Given the description of an element on the screen output the (x, y) to click on. 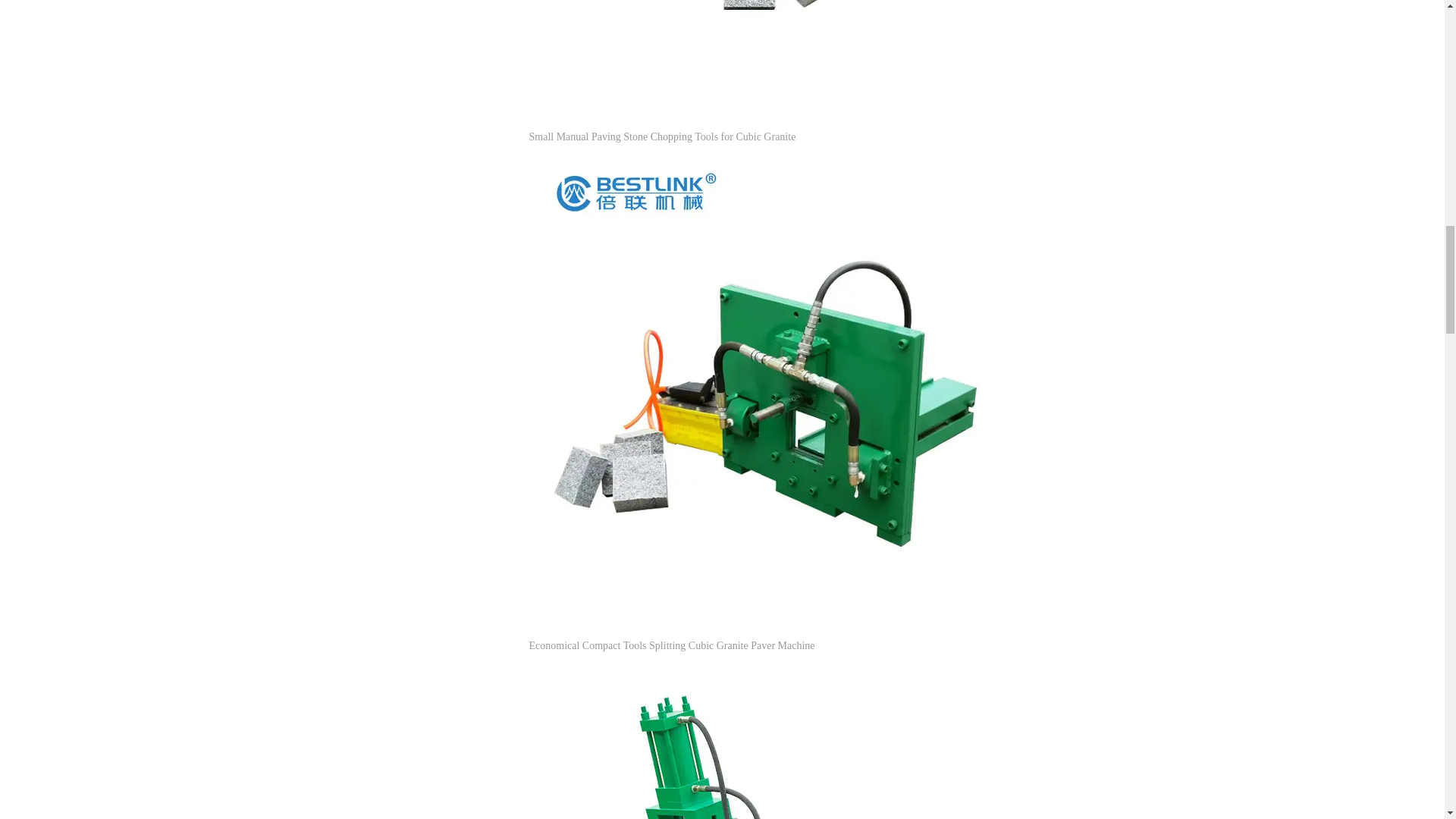
Small Manual Paving Stone Chopping Tools for Cubic Granite (662, 136)
Small Manual Paving Stone Chopping Tools for Cubic Granite (662, 136)
